Given the description of an element on the screen output the (x, y) to click on. 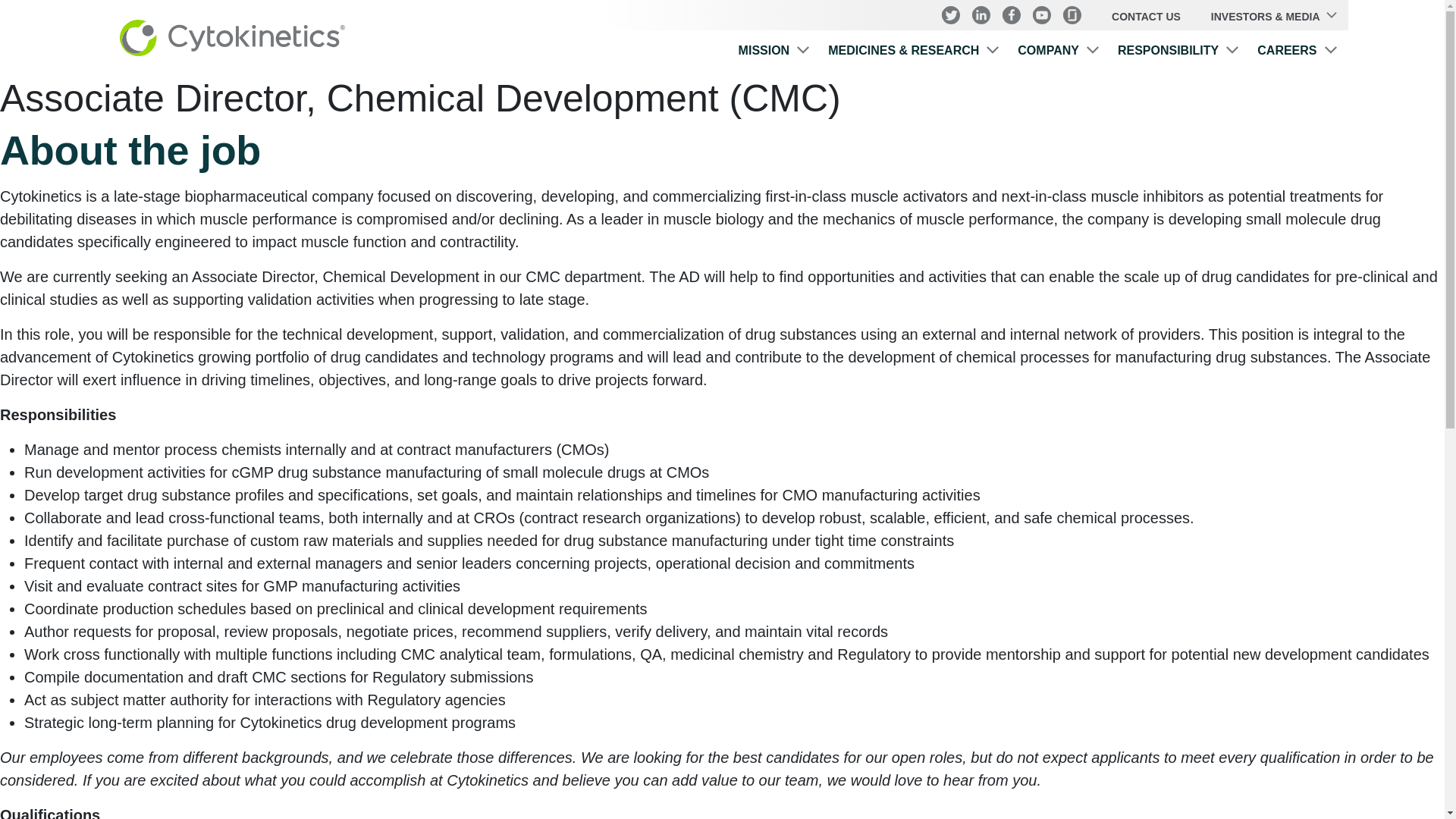
CONTACT US (1146, 16)
COMPANY (1058, 53)
Youtube (1041, 14)
Glassdoor (1071, 14)
Facebook (1011, 14)
LinkedIn (981, 14)
RESPONSIBILITY (1178, 53)
MISSION (773, 53)
Twitter (950, 14)
